Given the description of an element on the screen output the (x, y) to click on. 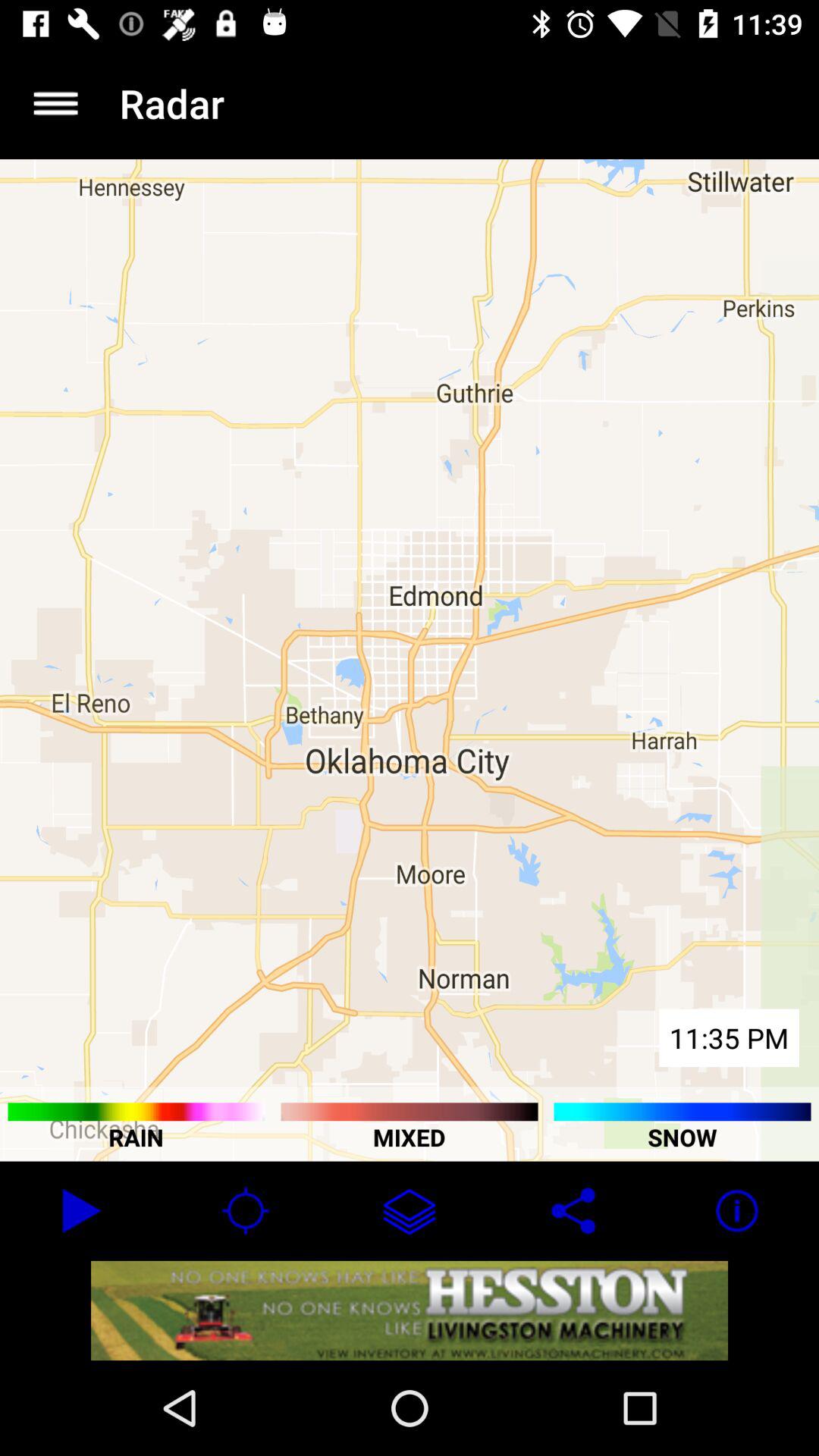
open advertisement (409, 1310)
